Given the description of an element on the screen output the (x, y) to click on. 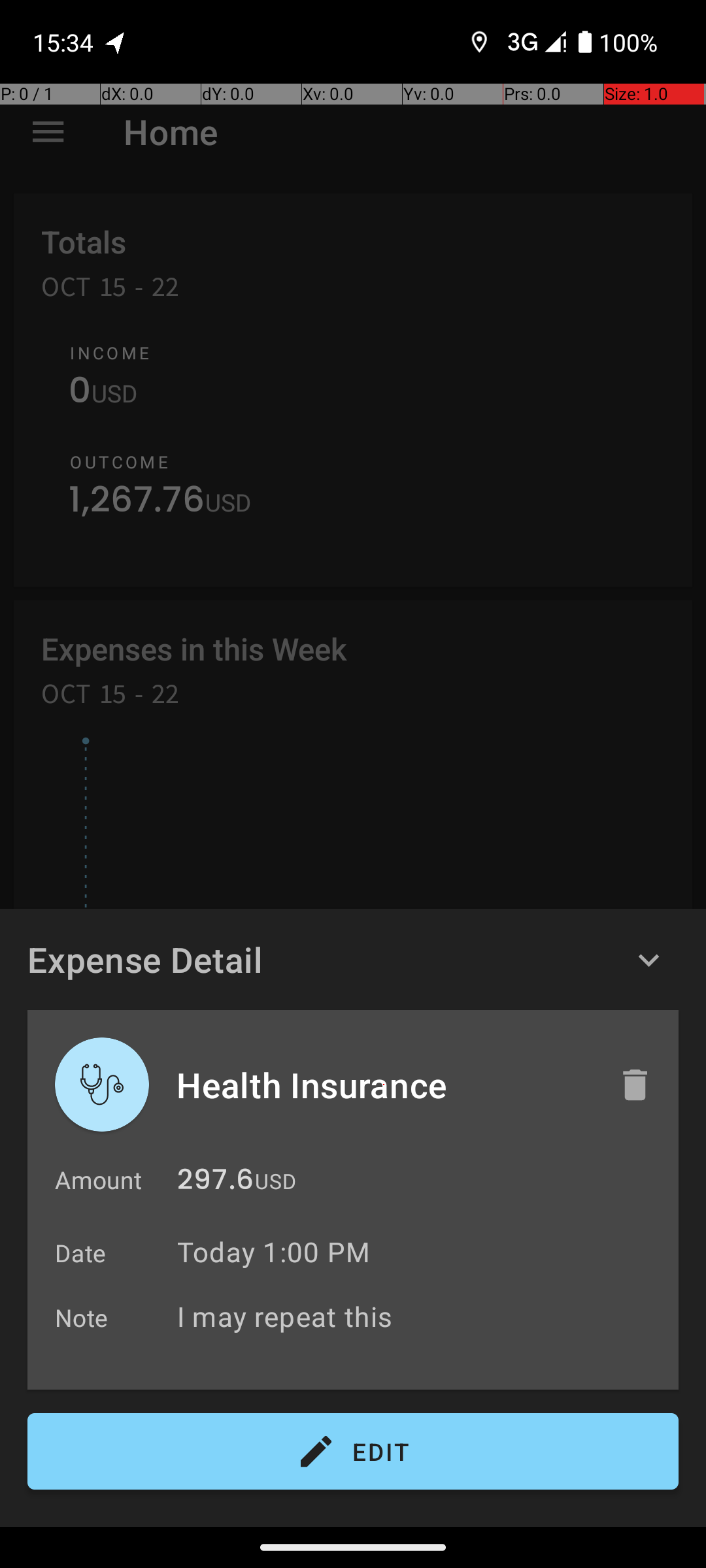
Health Insurance Element type: android.widget.TextView (383, 1084)
297.6 Element type: android.widget.TextView (215, 1182)
Today 1:00 PM Element type: android.widget.TextView (273, 1251)
